Given the description of an element on the screen output the (x, y) to click on. 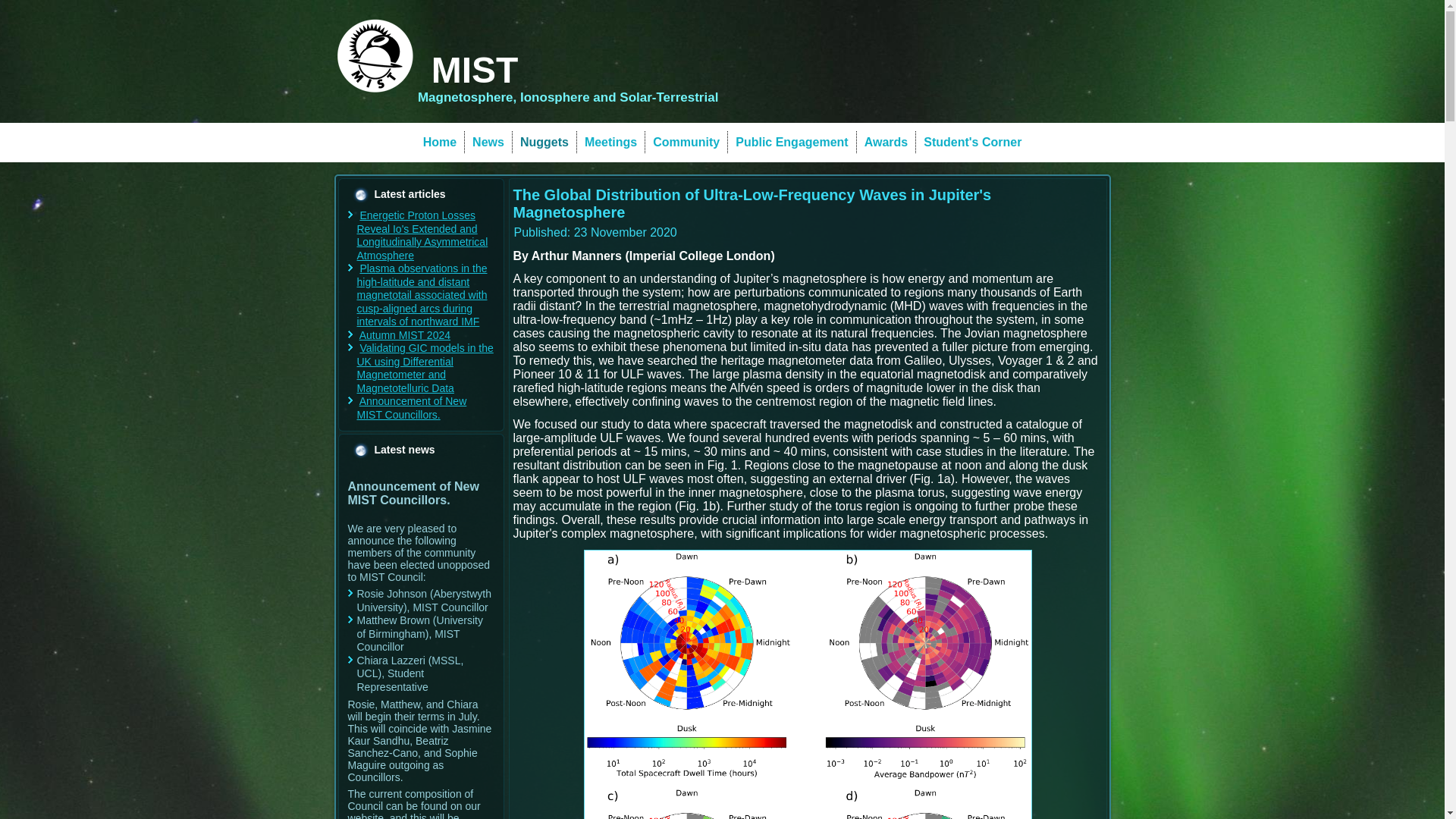
Nuggets (544, 142)
Meetings (610, 142)
Autumn MIST 2024 (404, 335)
News (488, 142)
Home (439, 142)
Awards (886, 142)
Student's Corner (972, 142)
Announcement of New MIST Councillors. (410, 407)
Community (686, 142)
Public Engagement (791, 142)
MIST (474, 69)
